Given the description of an element on the screen output the (x, y) to click on. 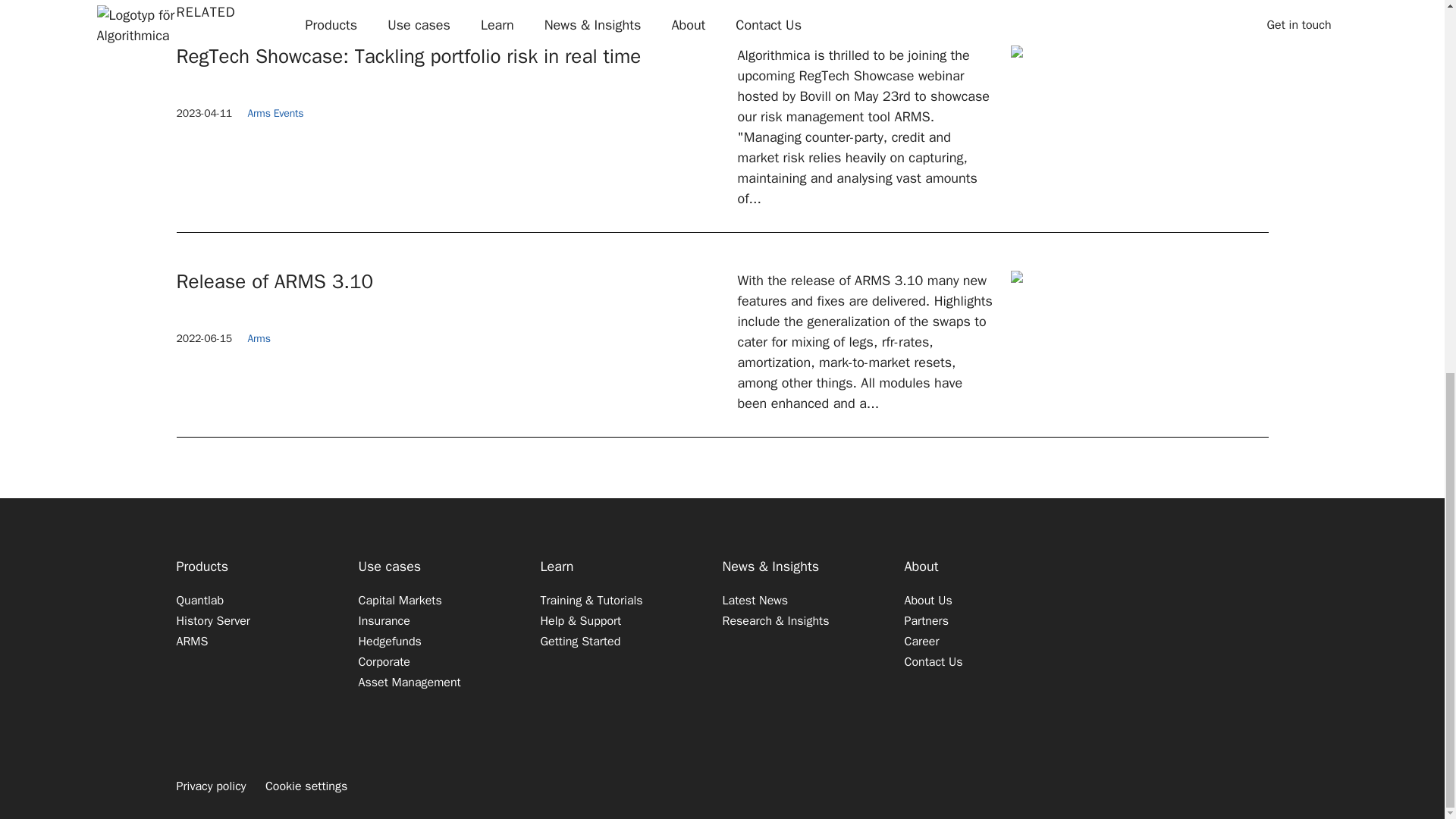
Arms (258, 113)
ARMS (192, 640)
RegTech Showcase: Tackling portfolio risk in real time (449, 56)
Quantlab (200, 599)
Release of ARMS 3.10 (449, 282)
Capital Markets (399, 599)
Events (288, 113)
Arms (258, 338)
History Server (212, 620)
